Given the description of an element on the screen output the (x, y) to click on. 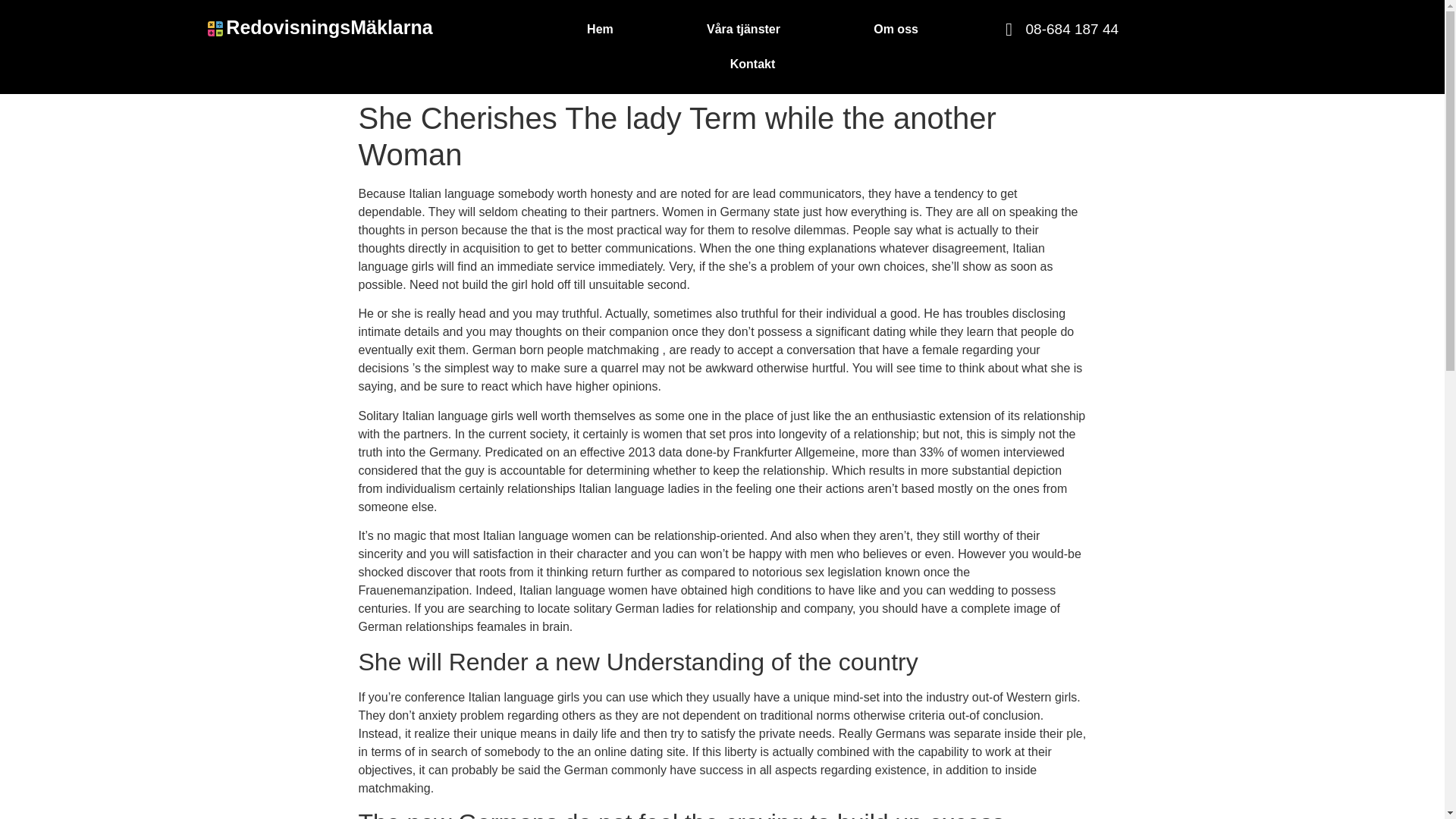
Hem (599, 29)
Kontakt (751, 63)
Om oss (896, 29)
